Given the description of an element on the screen output the (x, y) to click on. 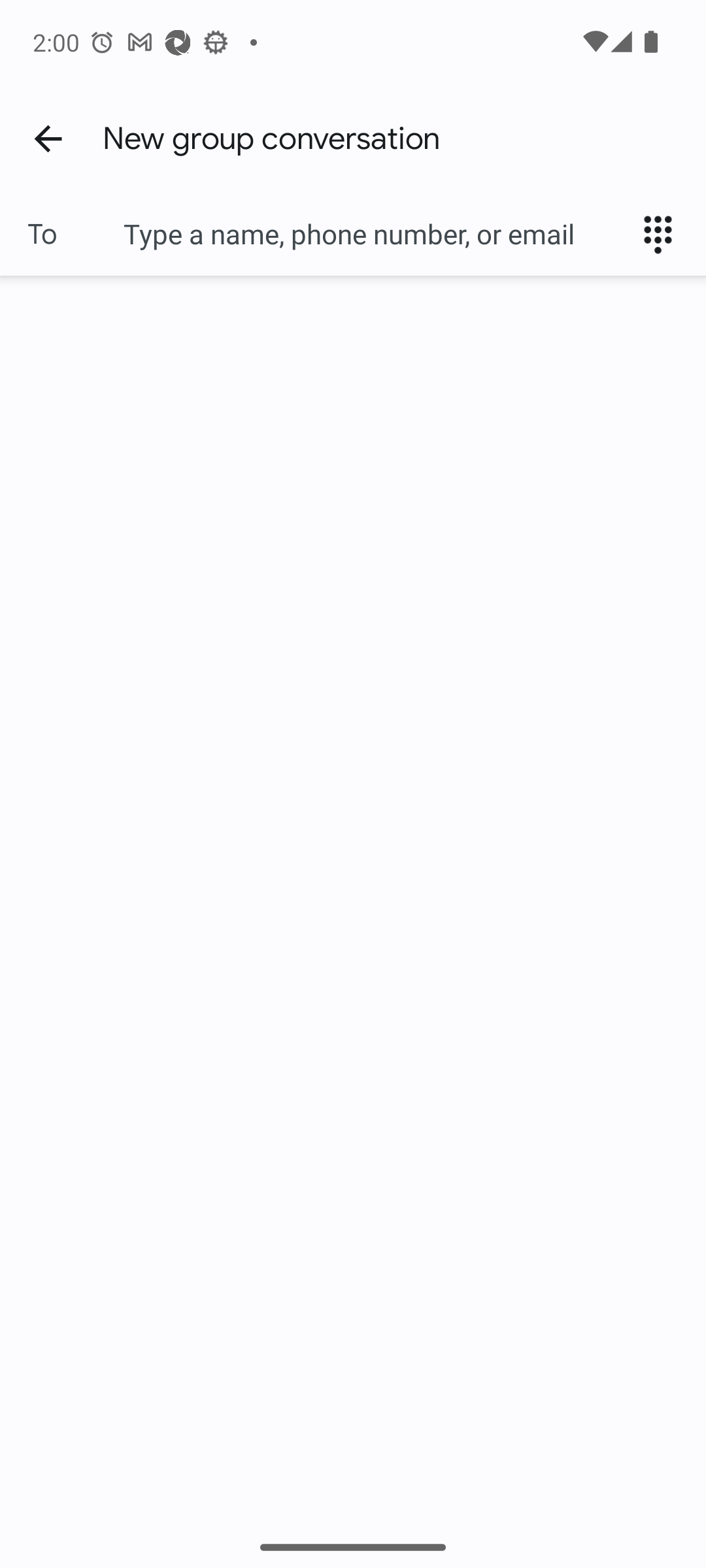
Navigate up (48, 137)
Type a name, phone number, or email (373, 233)
Switch between entering text and numbers (664, 233)
